Given the description of an element on the screen output the (x, y) to click on. 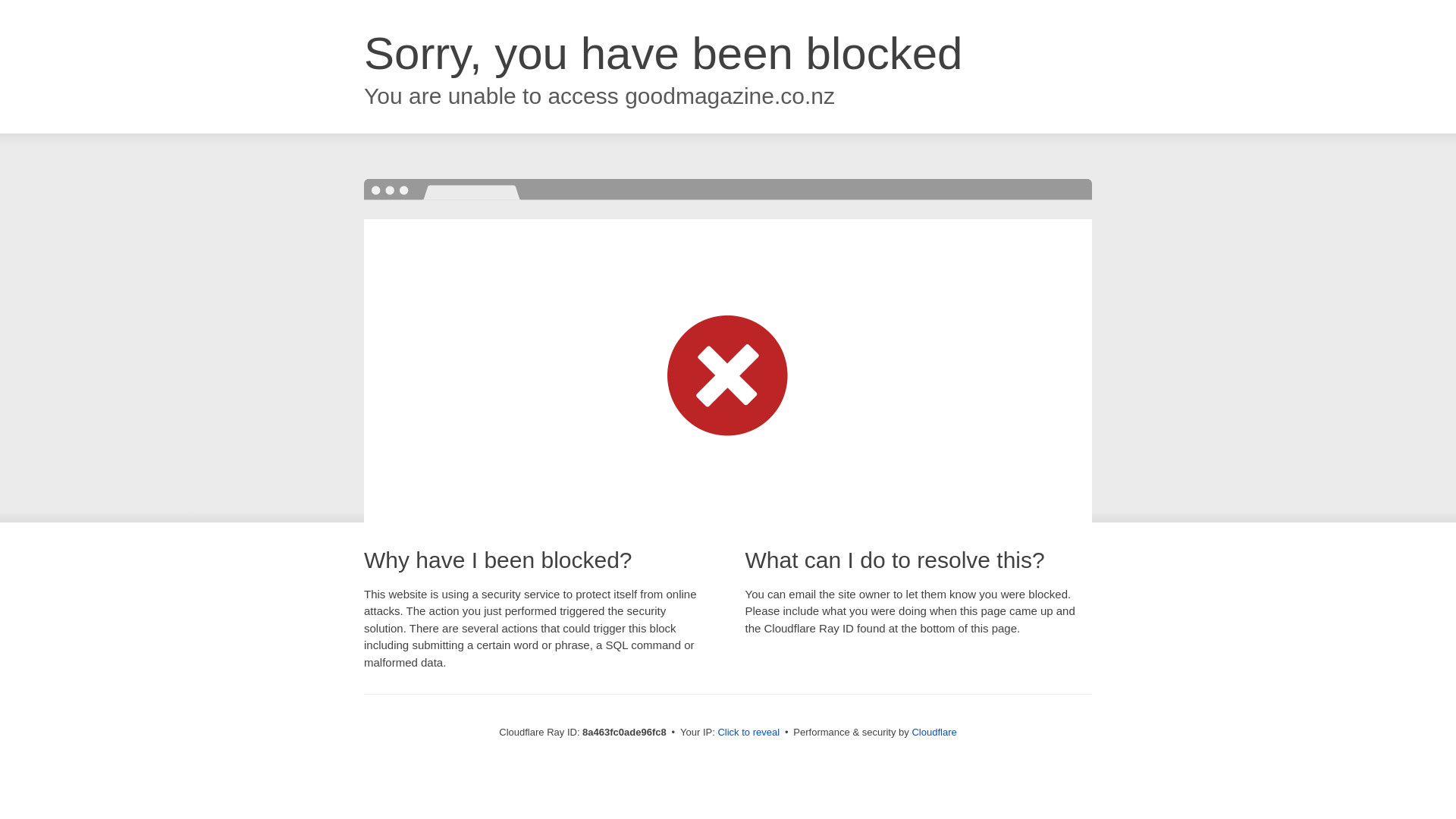
Click to reveal (747, 732)
Cloudflare (933, 731)
